Given the description of an element on the screen output the (x, y) to click on. 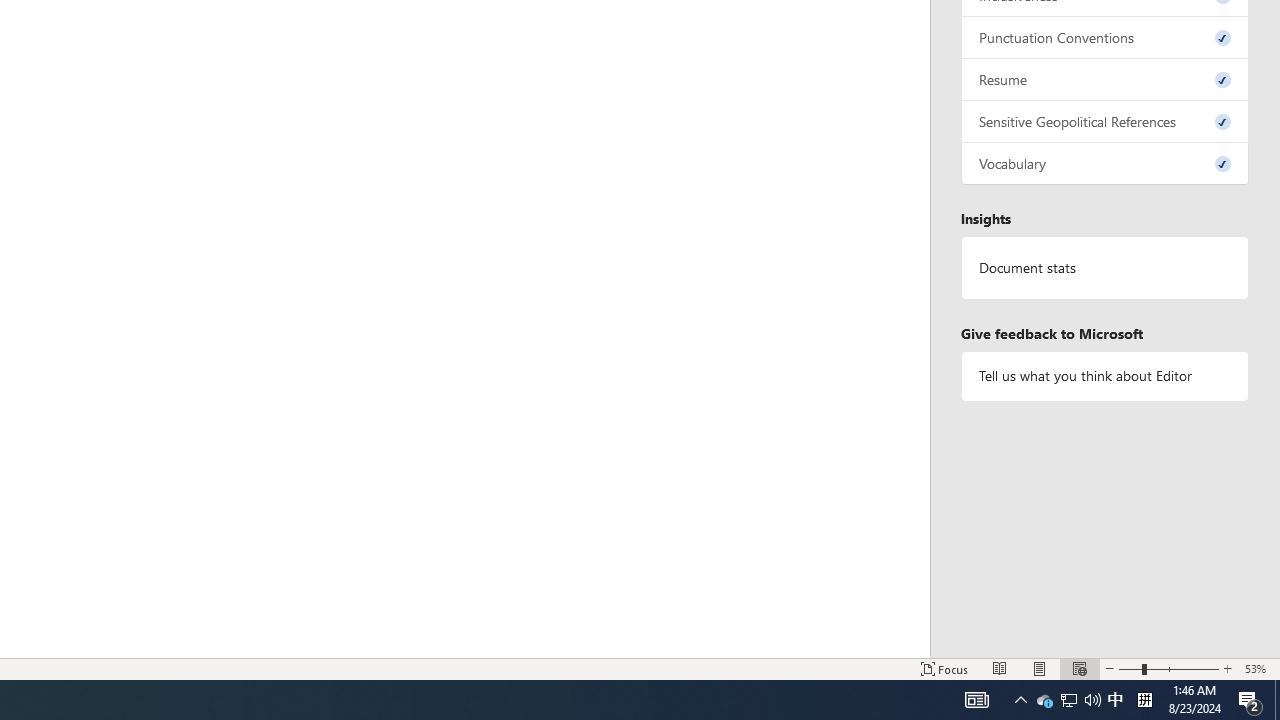
Vocabulary, 0 issues. Press space or enter to review items. (1105, 163)
Resume, 0 issues. Press space or enter to review items. (1105, 79)
Zoom 53% (1258, 668)
Tell us what you think about Editor (1105, 376)
Document statistics (1105, 267)
